Given the description of an element on the screen output the (x, y) to click on. 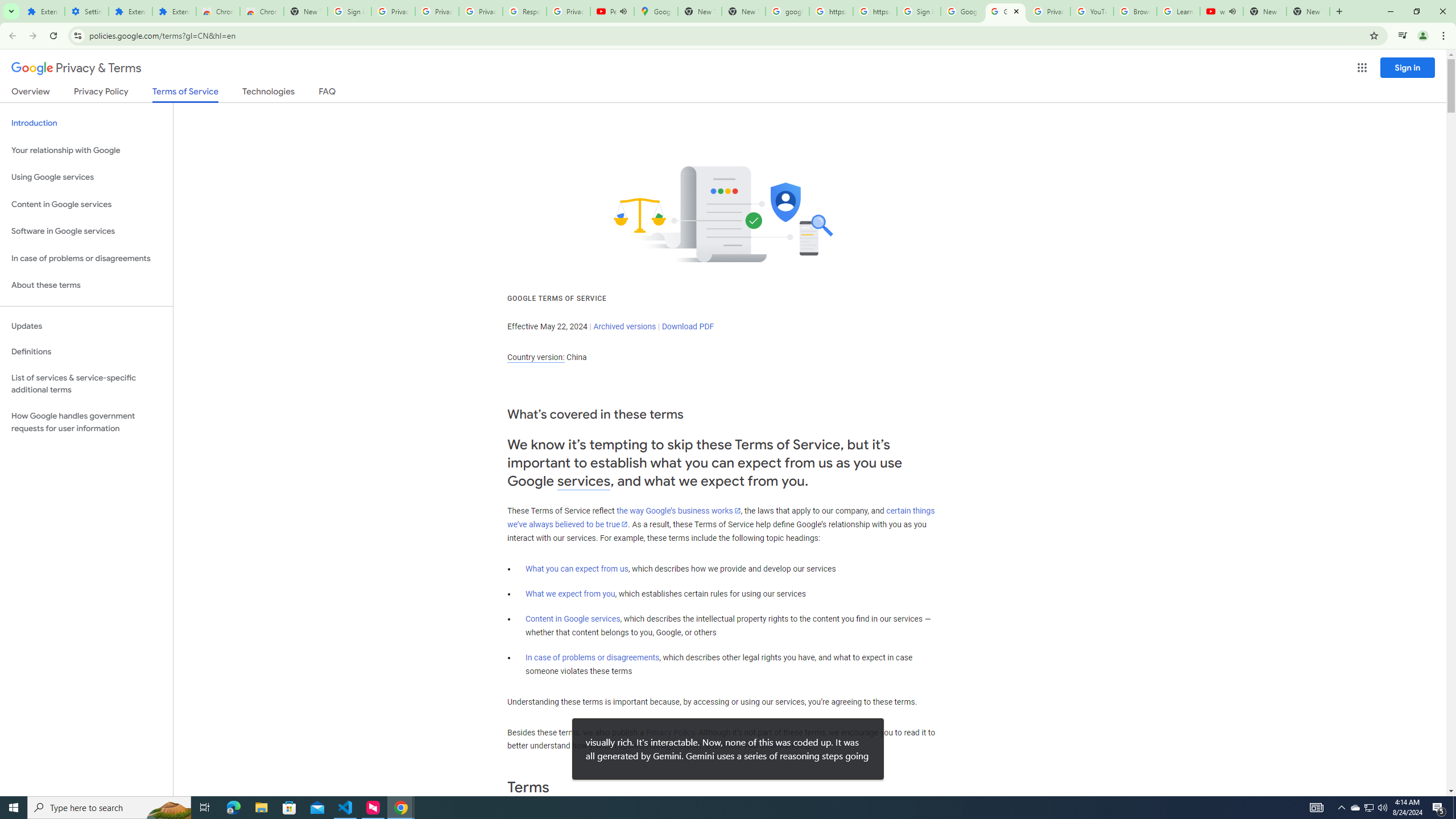
YouTube (1091, 11)
Settings (86, 11)
https://scholar.google.com/ (874, 11)
Extensions (173, 11)
Your relationship with Google (86, 150)
